Given the description of an element on the screen output the (x, y) to click on. 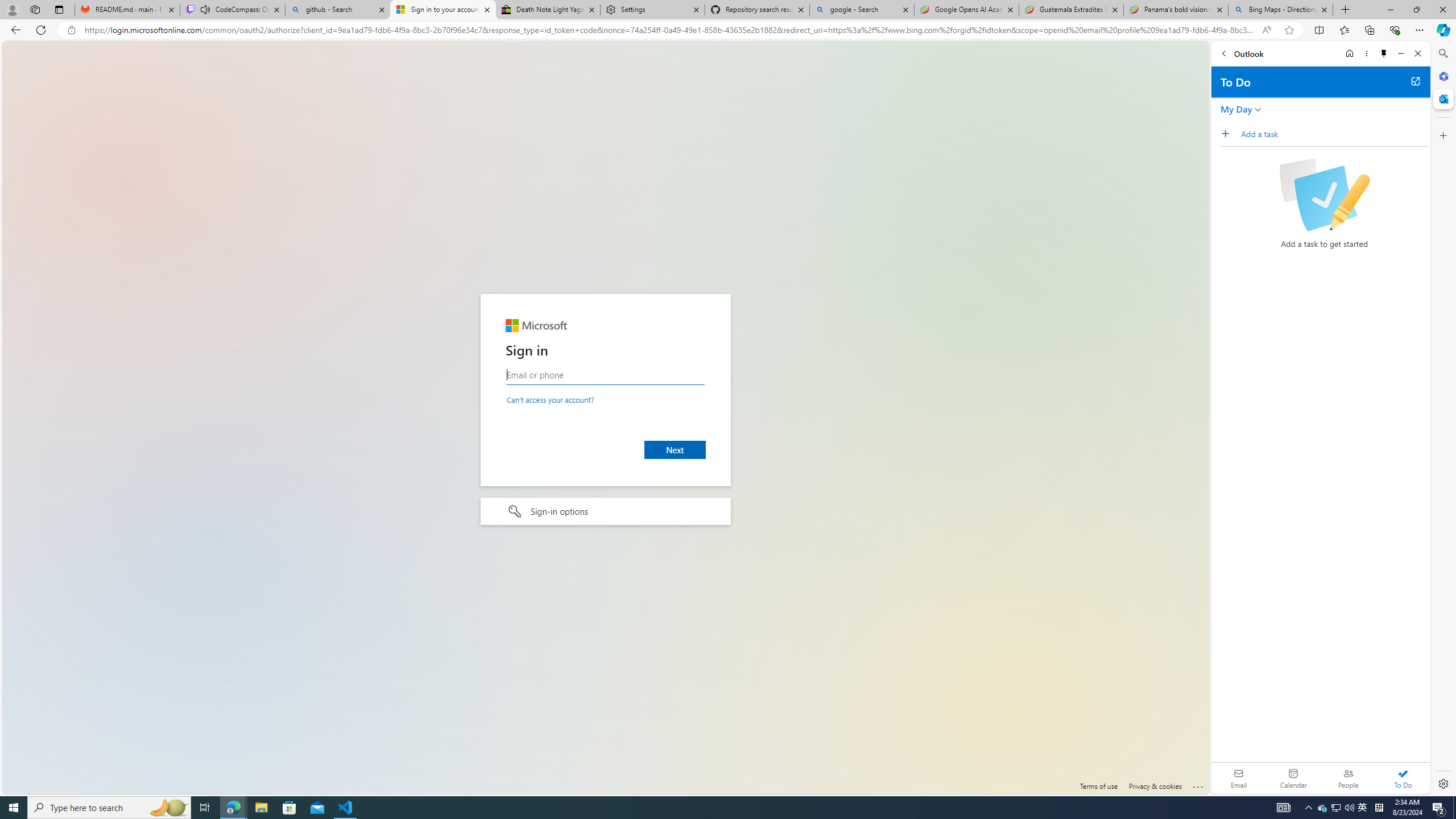
Sign in to your account (442, 9)
google - Search (861, 9)
Google Opens AI Academy for Startups - Nearshore Americas (966, 9)
People (1347, 777)
Click here for troubleshooting information (1198, 784)
Open in new tab (1414, 80)
Add a task (1228, 133)
